Given the description of an element on the screen output the (x, y) to click on. 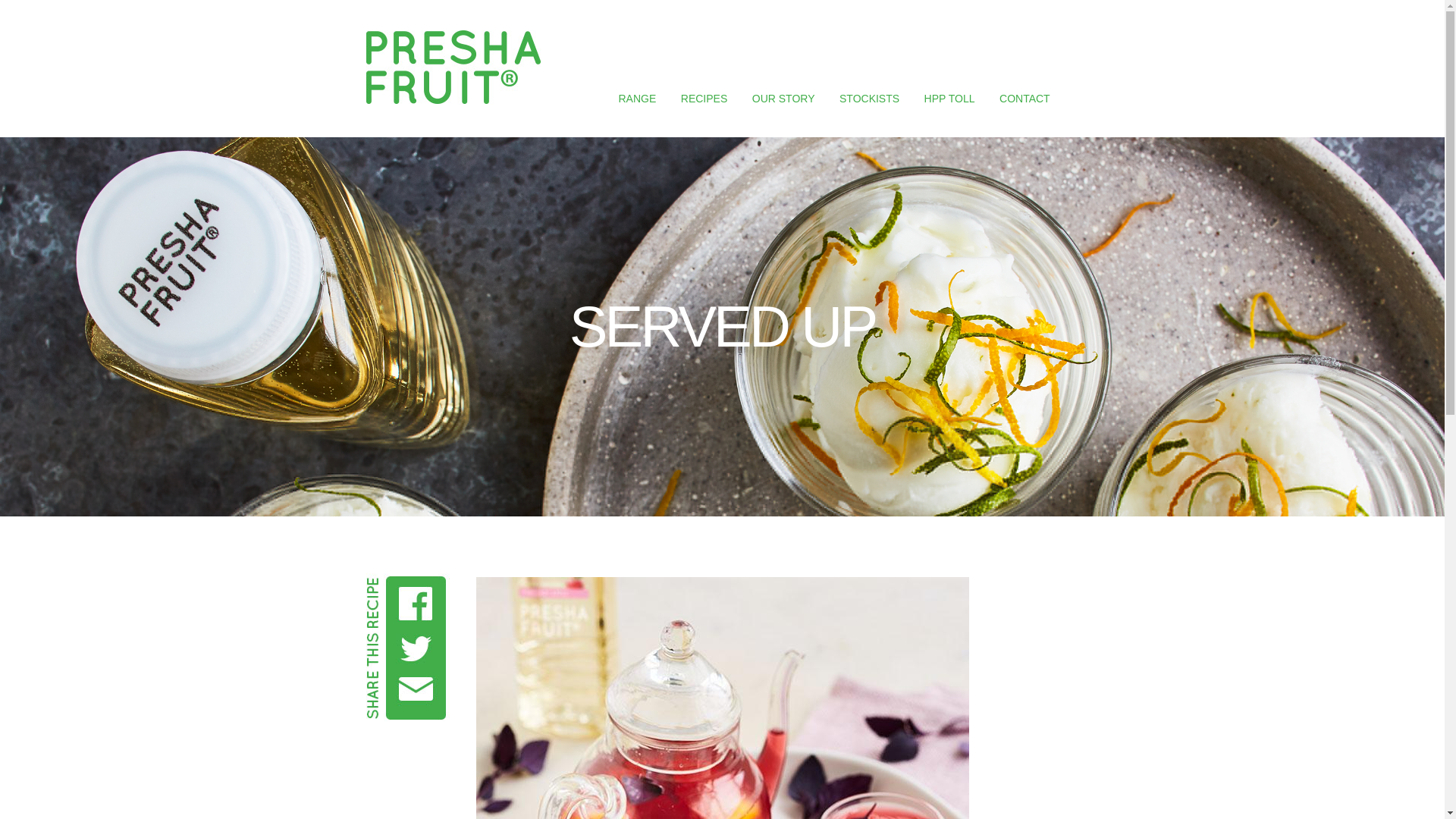
HPP TOLL (949, 98)
STOCKISTS (869, 98)
CONTACT (1023, 98)
OUR STORY (783, 98)
RECIPES (703, 98)
Skip to main content (693, 31)
RANGE (637, 98)
